Given the description of an element on the screen output the (x, y) to click on. 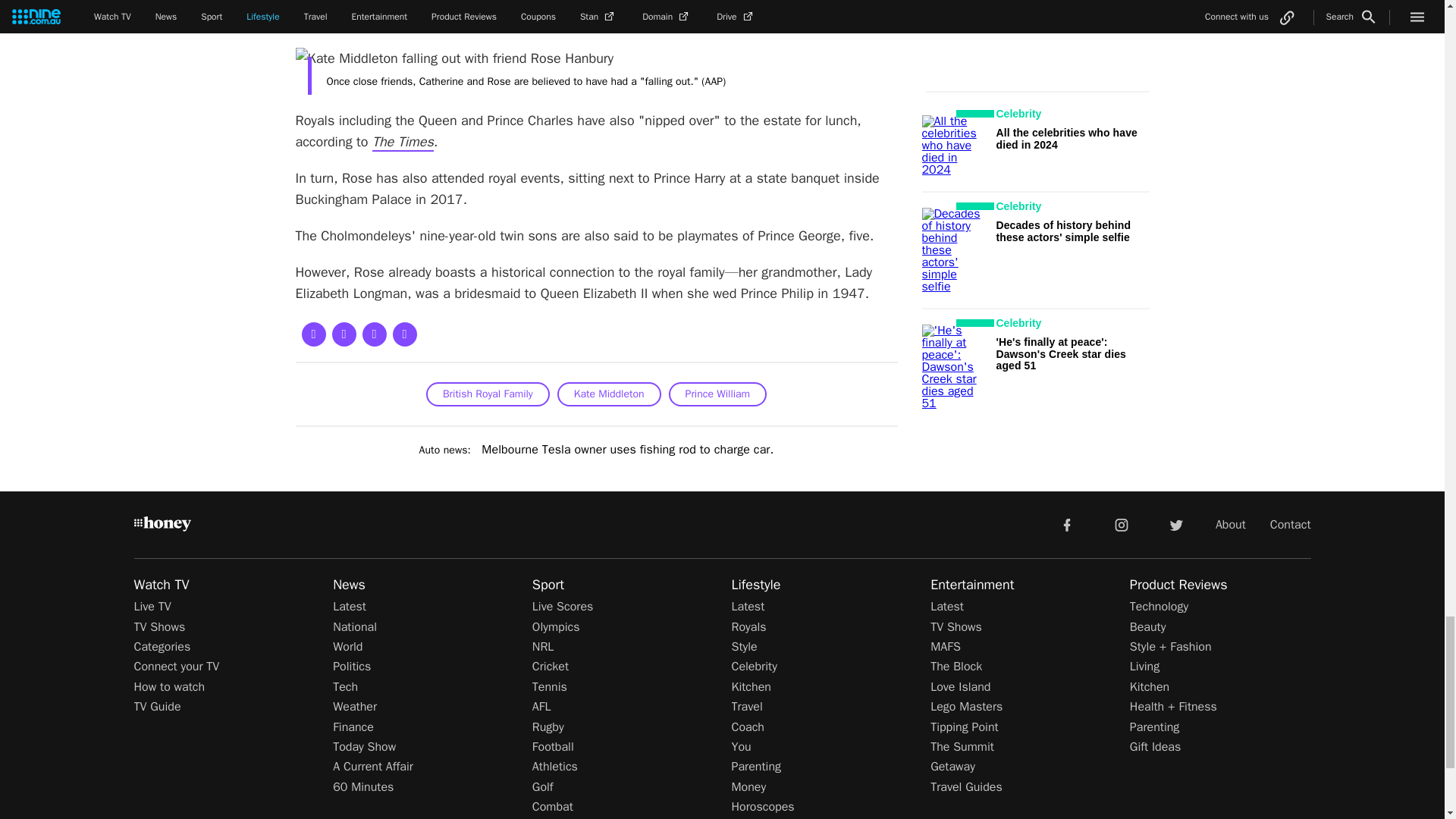
Prince William (717, 394)
instagram (1121, 523)
Kate Middleton (609, 394)
British Royal Family (488, 394)
twitter (1175, 523)
The Times  (402, 142)
facebook (1066, 523)
The Times (402, 142)
